Given the description of an element on the screen output the (x, y) to click on. 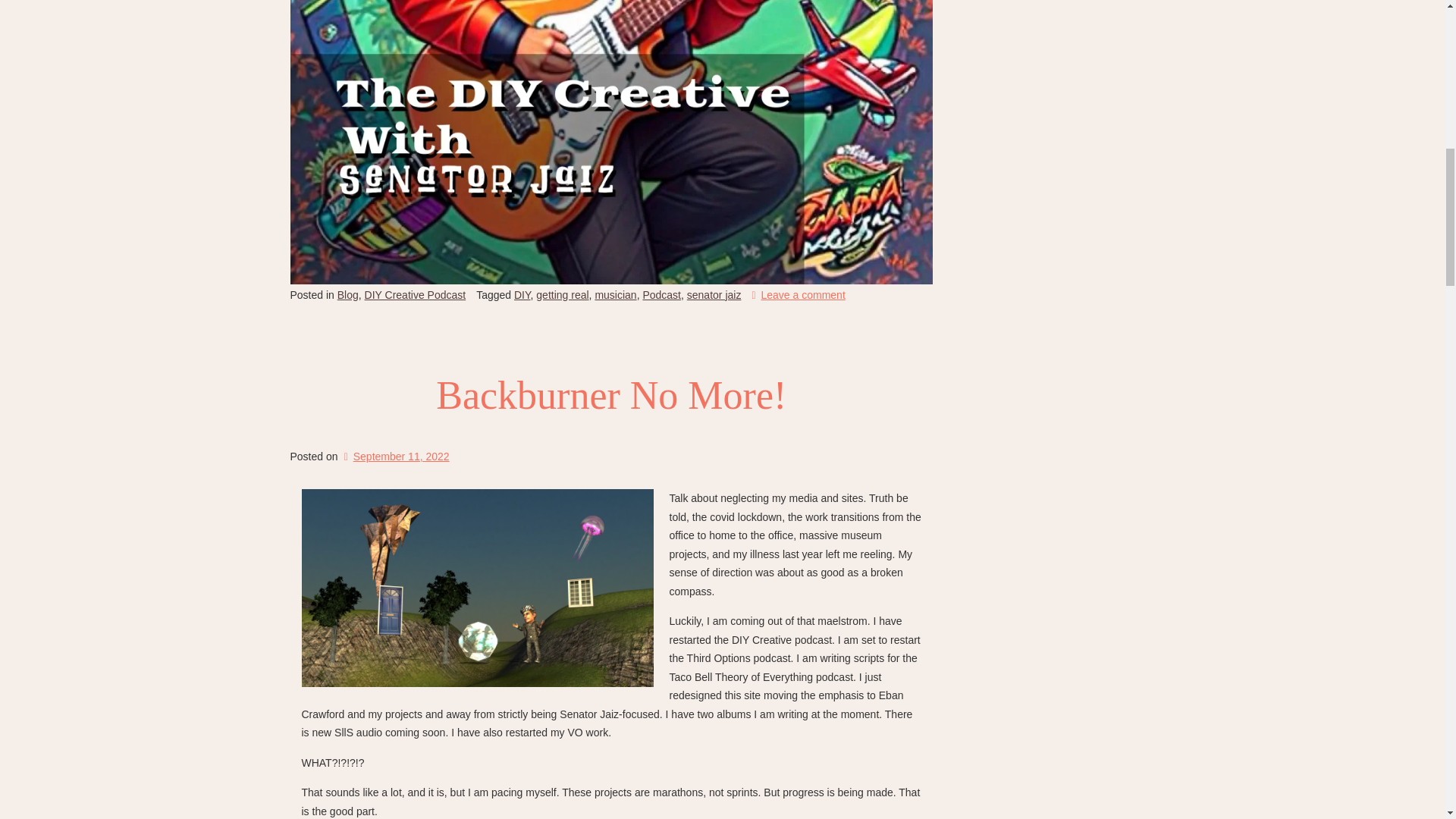
getting real (561, 295)
September 11, 2022 (394, 456)
musician (615, 295)
Blog (347, 295)
senator jaiz (714, 295)
Podcast (661, 295)
Leave a comment (797, 295)
DIY (522, 295)
DIY Creative Podcast (415, 295)
Backburner No More! (611, 394)
